Given the description of an element on the screen output the (x, y) to click on. 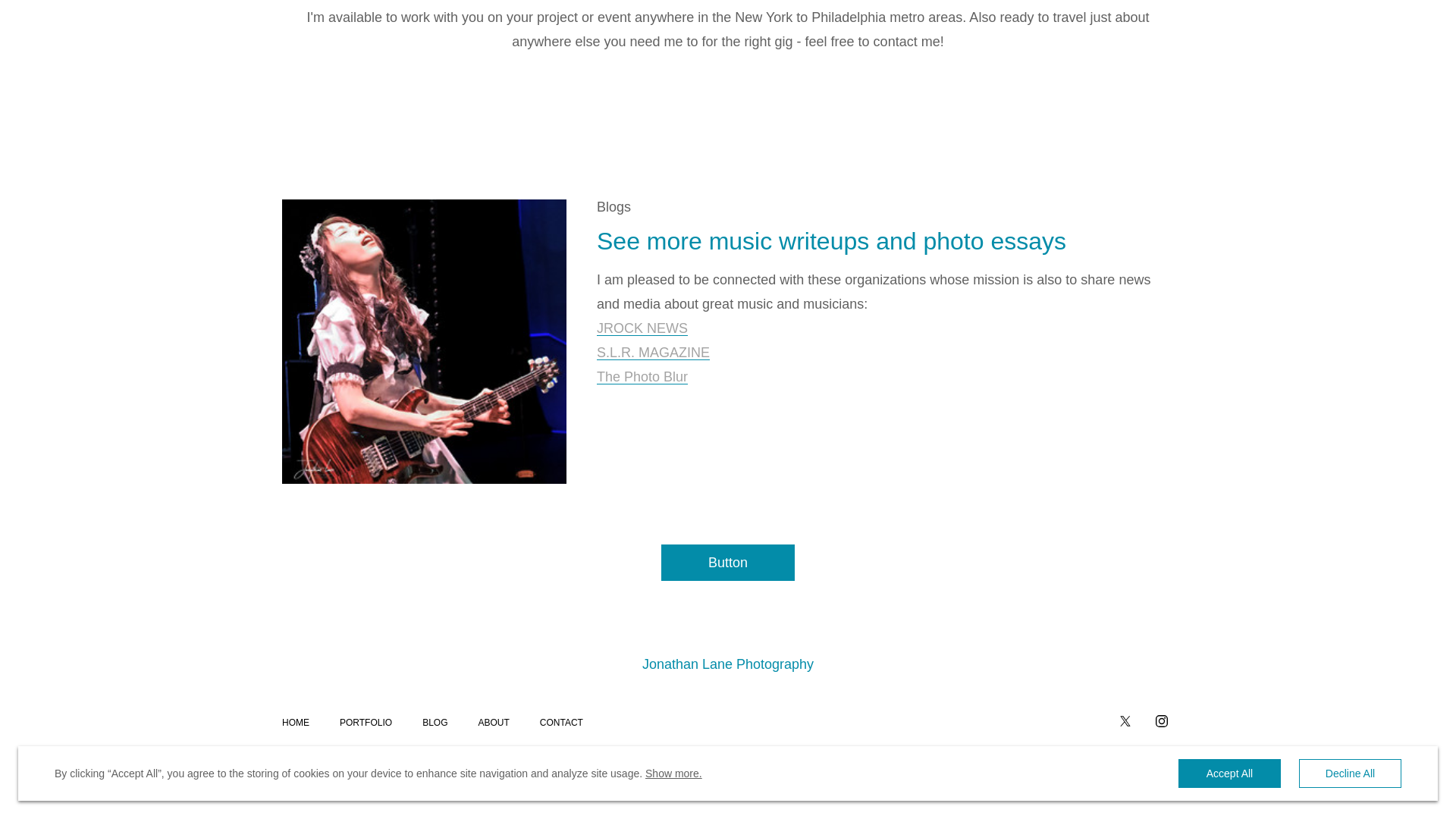
The Photo Blur (641, 377)
PORTFOLIO (365, 722)
Jonathan Lane Photography (727, 664)
S.L.R. MAGAZINE (653, 352)
HOME (295, 722)
BLOG (434, 722)
CONTACT (561, 722)
Button (727, 562)
JROCK NEWS (641, 328)
ABOUT (492, 722)
